Given the description of an element on the screen output the (x, y) to click on. 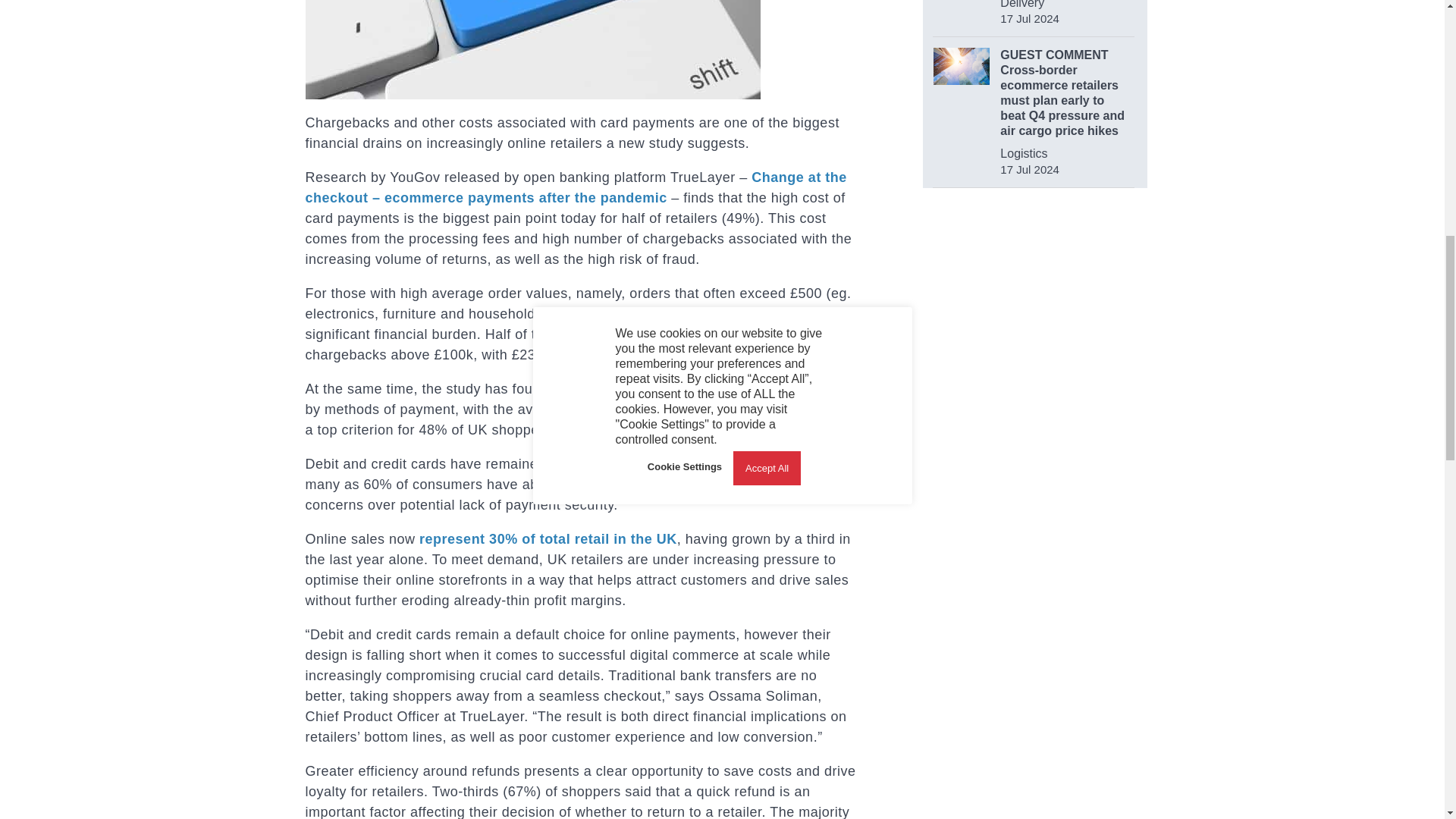
3rd party ad content (1034, 305)
3rd party ad content (1035, 517)
